Given the description of an element on the screen output the (x, y) to click on. 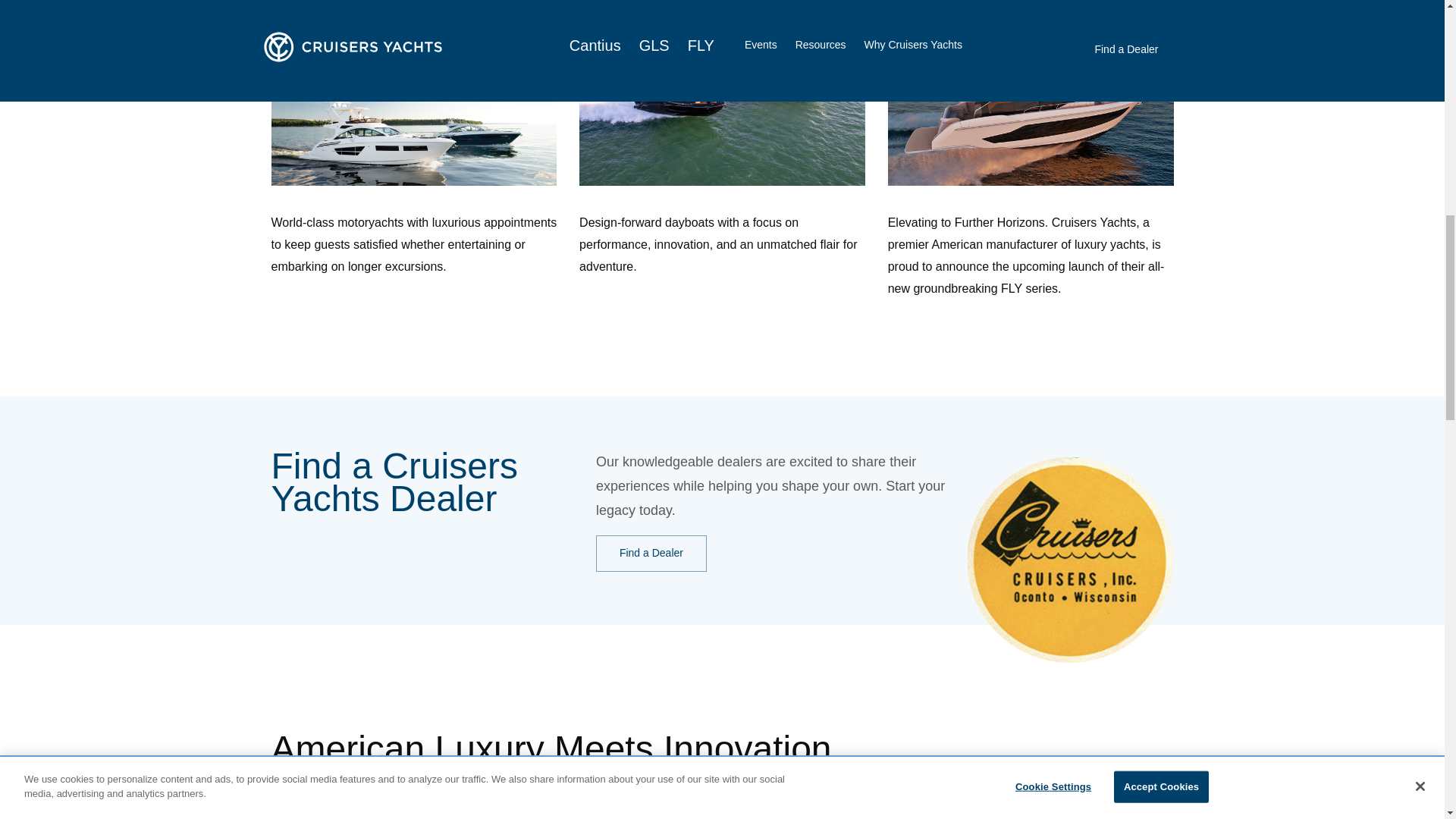
View the Cantius Series (327, 5)
View the GLS Series (628, 5)
View the FLY Series (935, 5)
Find a Dealer (650, 553)
